Given the description of an element on the screen output the (x, y) to click on. 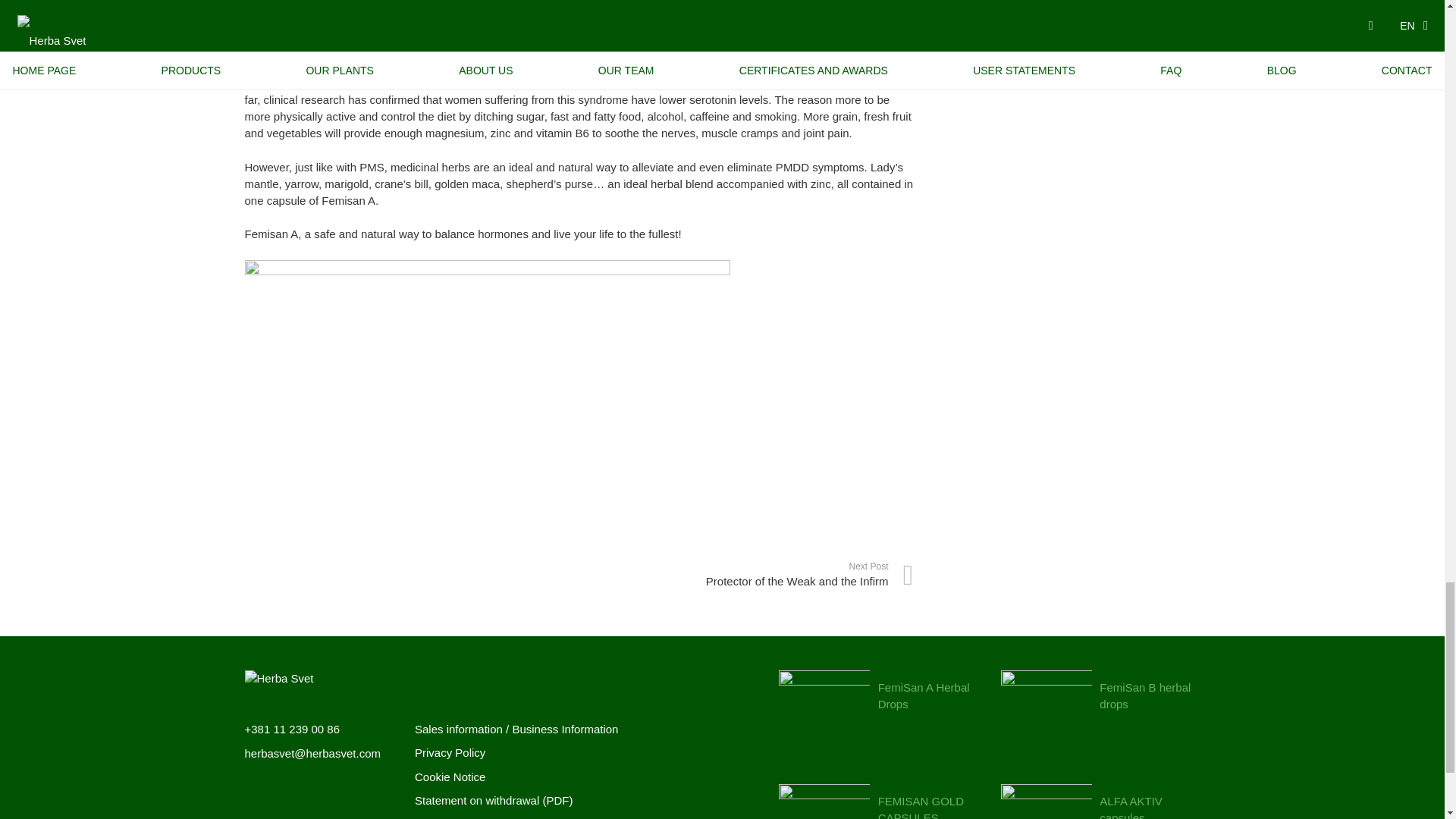
Cookie Notice (449, 776)
Privacy Policy (449, 752)
Protector of the Weak and the Infirm (746, 574)
